Given the description of an element on the screen output the (x, y) to click on. 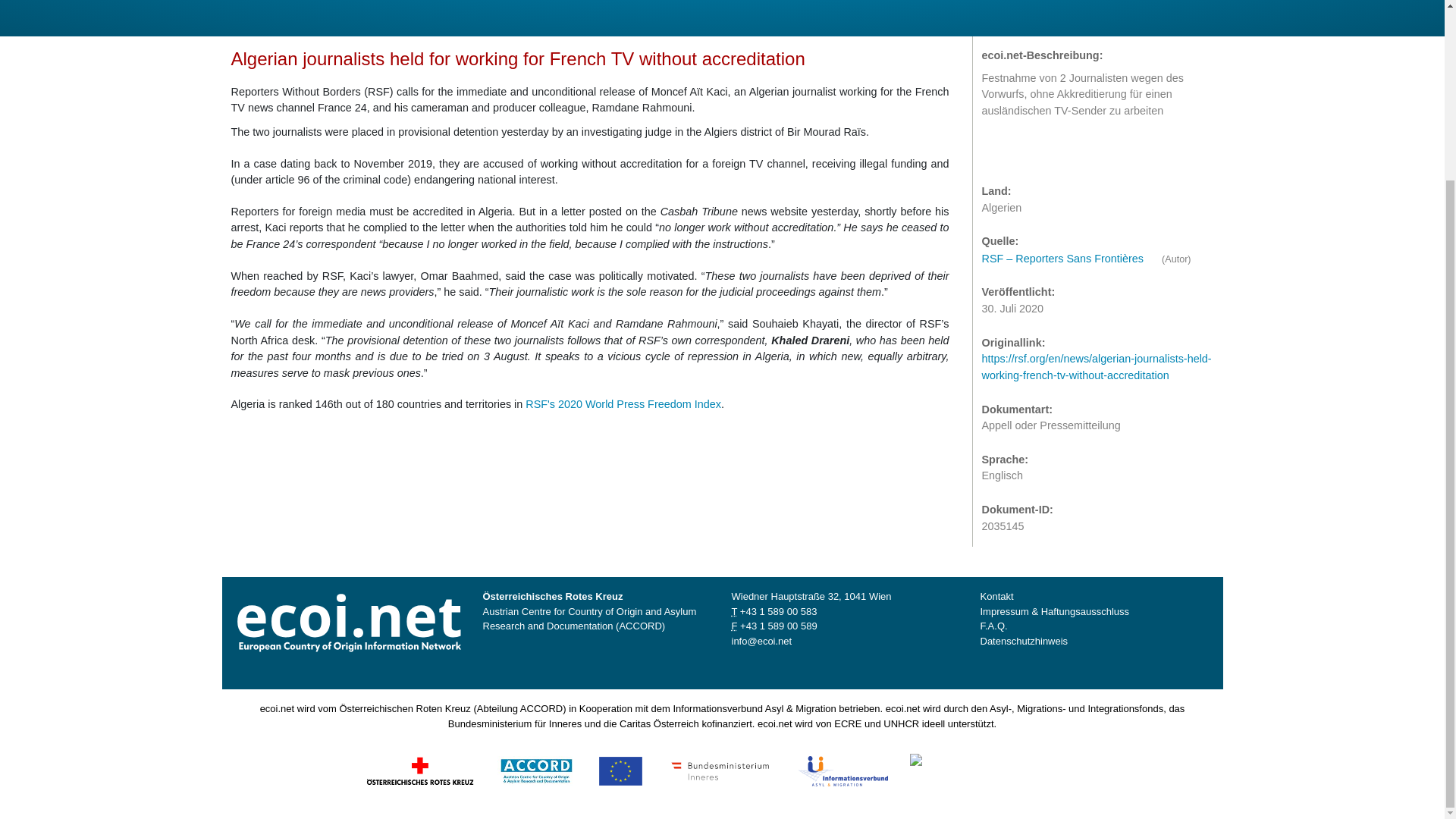
RSF's 2020 World Press Freedom Index (622, 404)
Fax (733, 625)
Quellenbeschreibung lesen (1069, 258)
Kontakt (996, 595)
F.A.Q. (993, 625)
Datenschutzhinweis (1023, 641)
Zitieren als (996, 152)
Telefon (777, 611)
Permalink (1056, 152)
Teilen (1026, 152)
UNHCR - The UN Refugee Agency (1006, 769)
Telefon (733, 611)
Fax (777, 625)
